Given the description of an element on the screen output the (x, y) to click on. 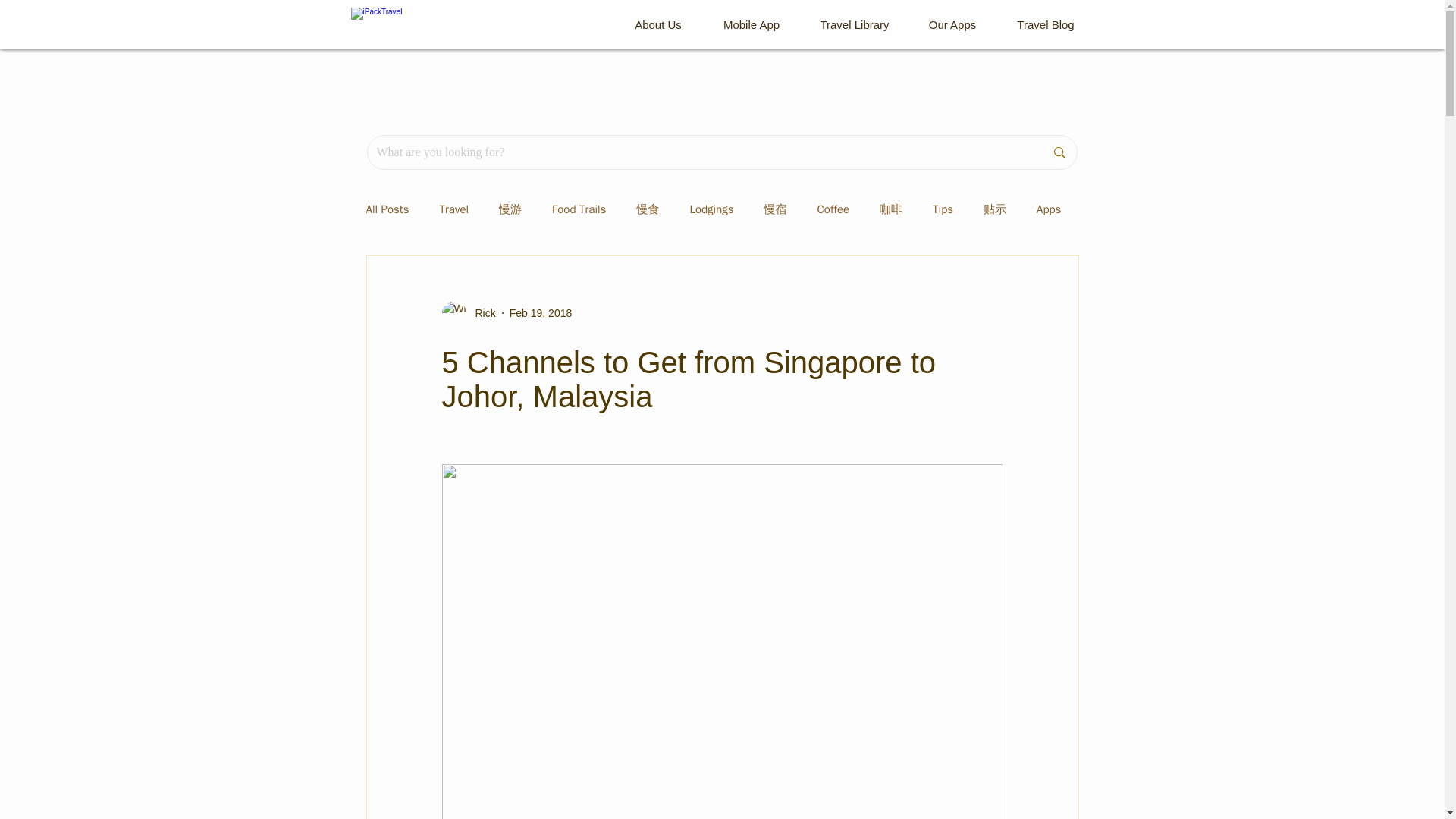
Lodgings (710, 208)
Tips (943, 208)
Travel (453, 208)
Travel Blog (1045, 24)
All Posts (387, 208)
Apps (1048, 208)
Our Apps (952, 24)
About Us (658, 24)
Food Trails (578, 208)
Feb 19, 2018 (540, 312)
